Given the description of an element on the screen output the (x, y) to click on. 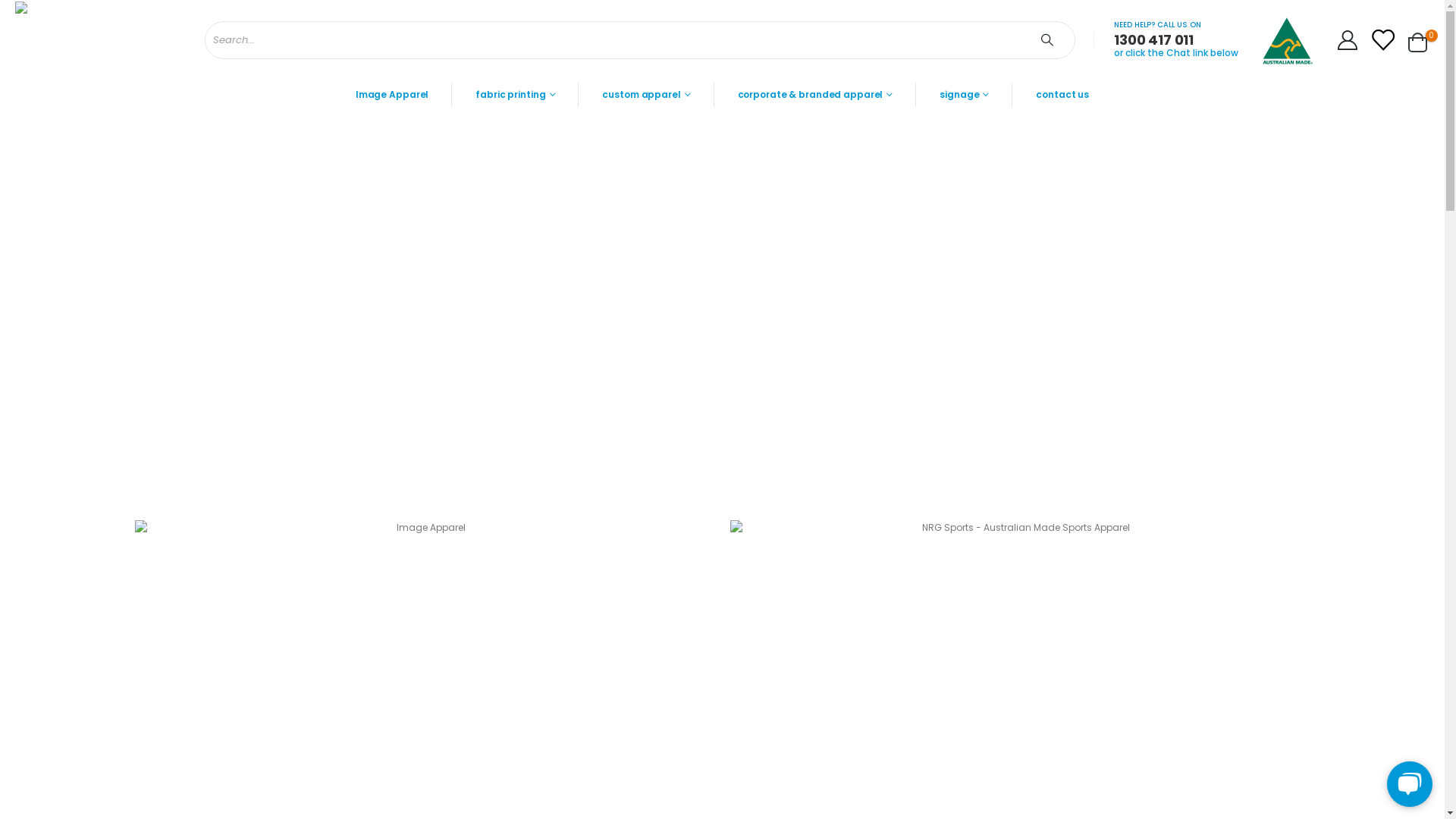
contact us Element type: text (1062, 94)
Image Apparel Element type: text (391, 94)
custom apparel Element type: text (646, 94)
corporate & branded apparel Element type: text (815, 94)
Search Element type: hover (1050, 39)
My Account Element type: hover (1346, 40)
fabric printing Element type: text (515, 94)
signage Element type: text (964, 94)
